Given the description of an element on the screen output the (x, y) to click on. 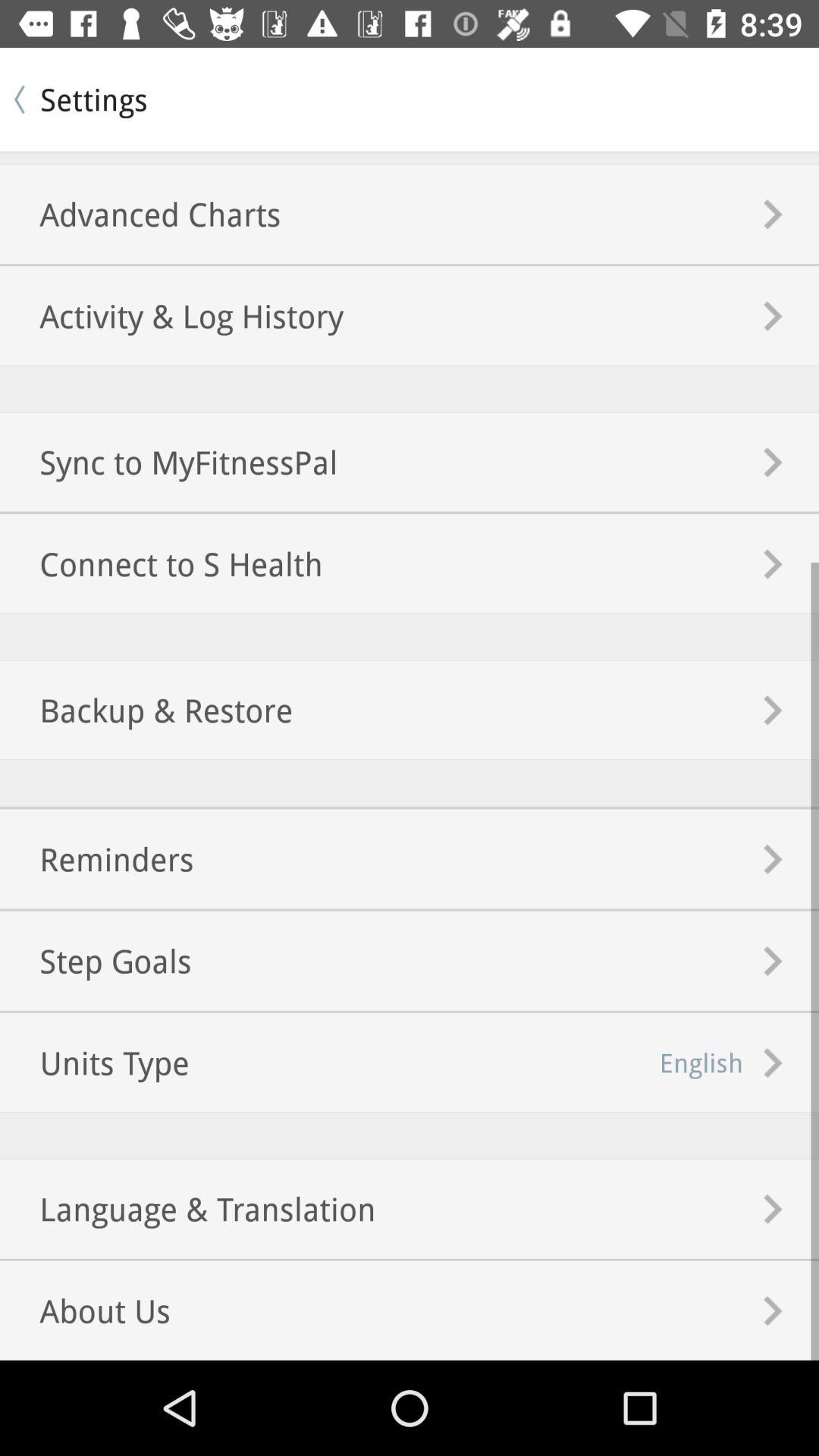
scroll until english icon (701, 1062)
